Given the description of an element on the screen output the (x, y) to click on. 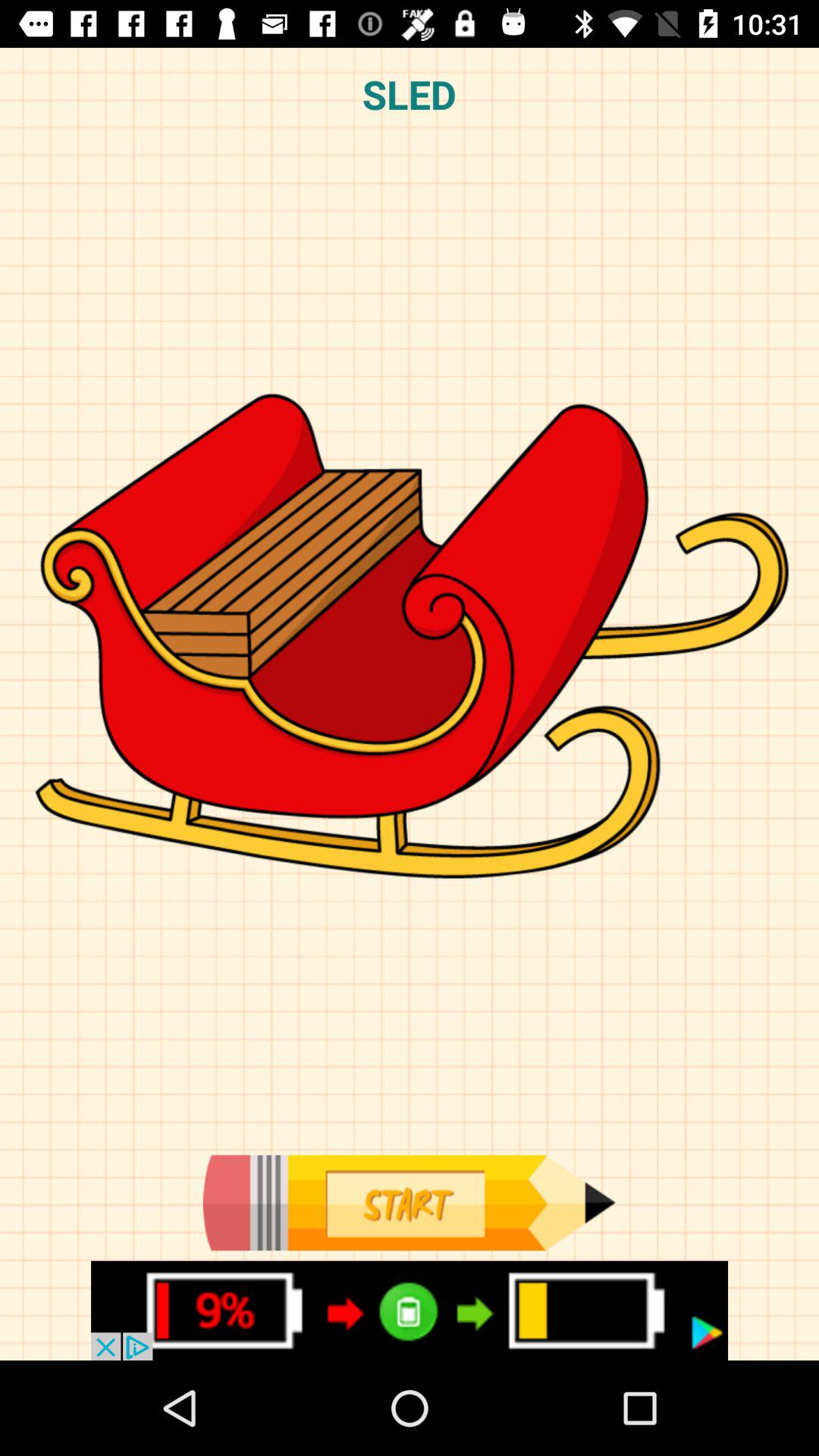
battery power (409, 1310)
